Given the description of an element on the screen output the (x, y) to click on. 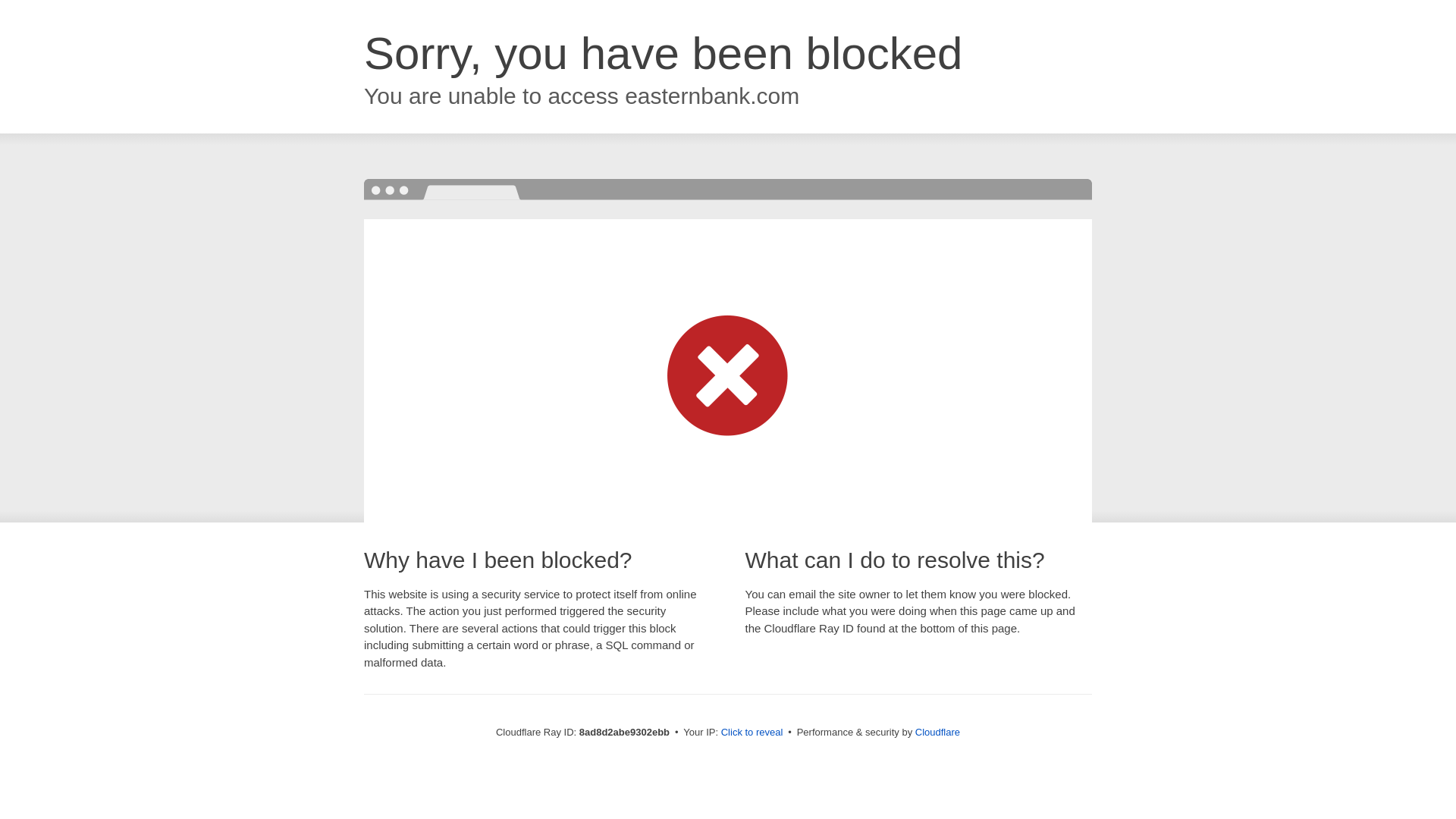
Click to reveal (751, 732)
Cloudflare (937, 731)
